Given the description of an element on the screen output the (x, y) to click on. 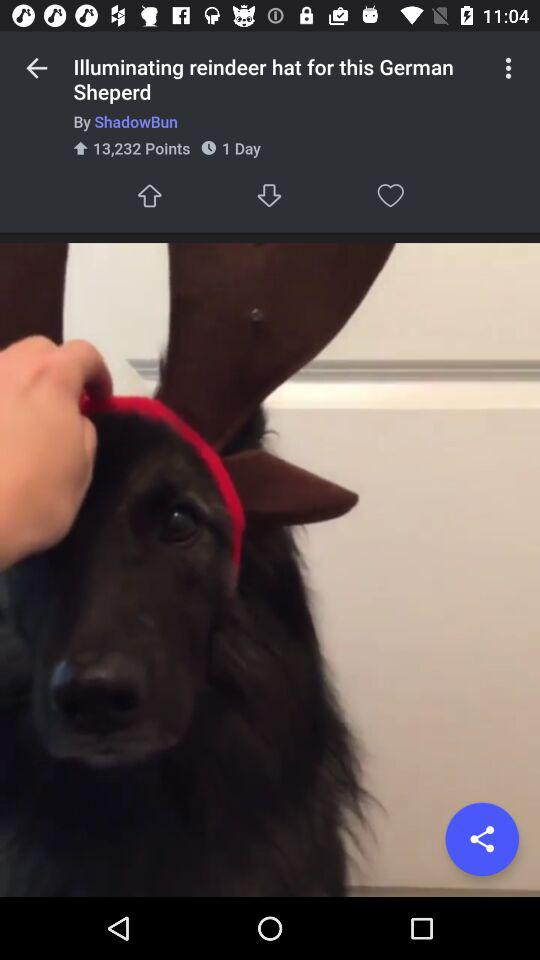
go to next (269, 195)
